Given the description of an element on the screen output the (x, y) to click on. 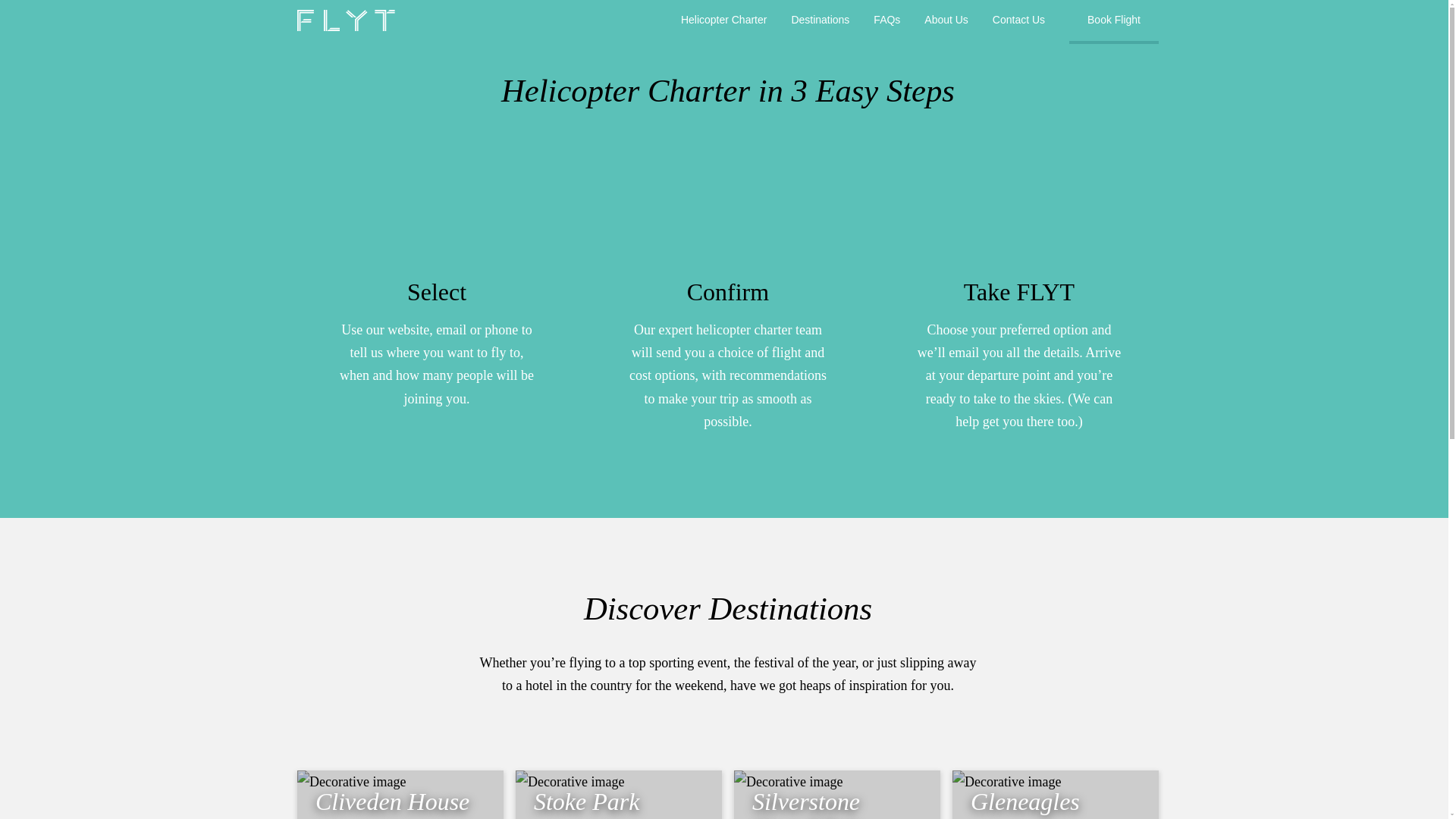
Contact Us (1018, 22)
About Us (945, 22)
Helicopter Charter (723, 22)
Book Flight (1113, 22)
Destinations (819, 22)
FAQs (886, 22)
